Given the description of an element on the screen output the (x, y) to click on. 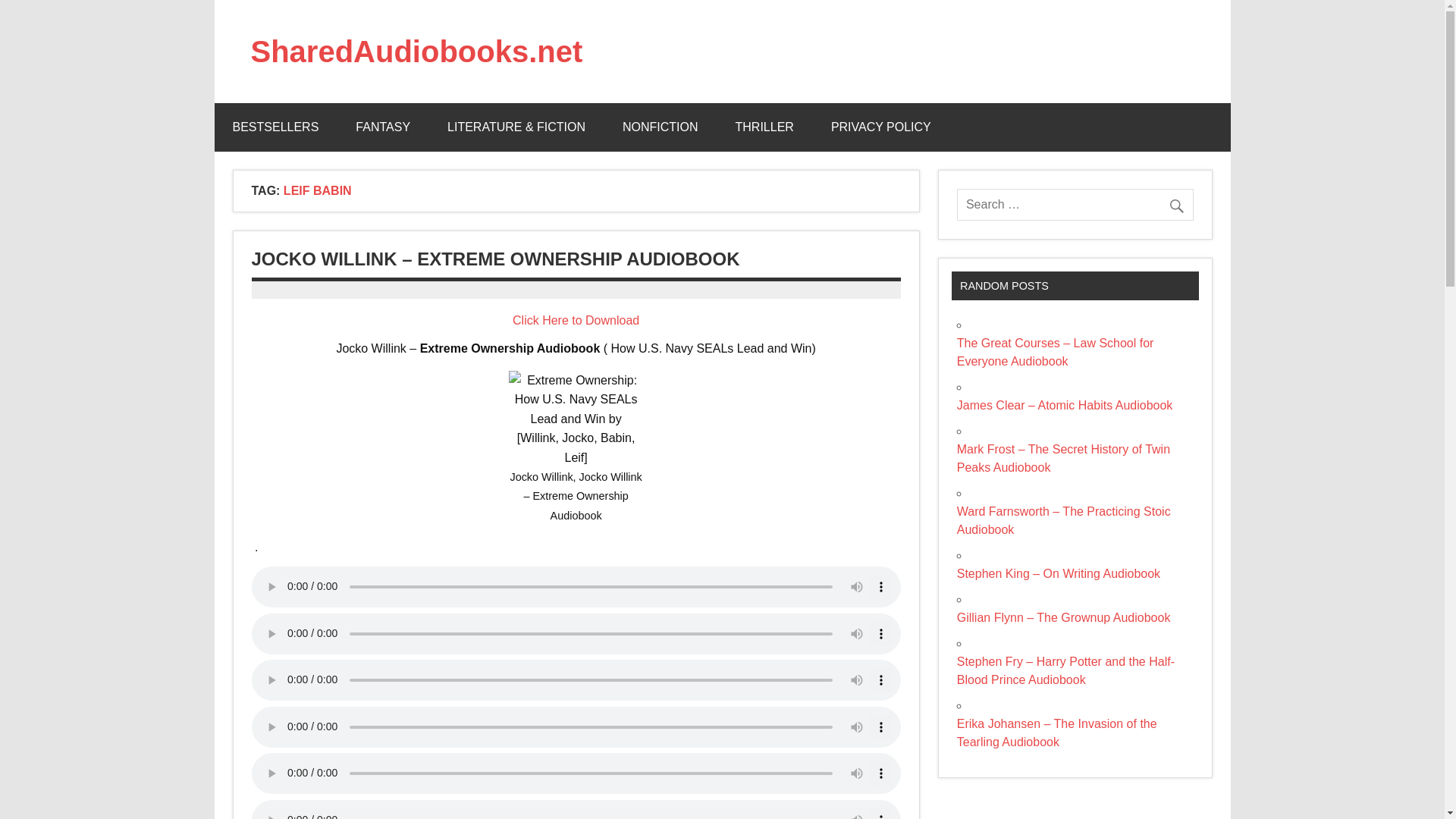
SharedAudiobooks.net (416, 51)
THRILLER (764, 127)
Click Here to Download (575, 319)
FANTASY (382, 127)
PRIVACY POLICY (880, 127)
NONFICTION (660, 127)
BESTSELLERS (275, 127)
